Given the description of an element on the screen output the (x, y) to click on. 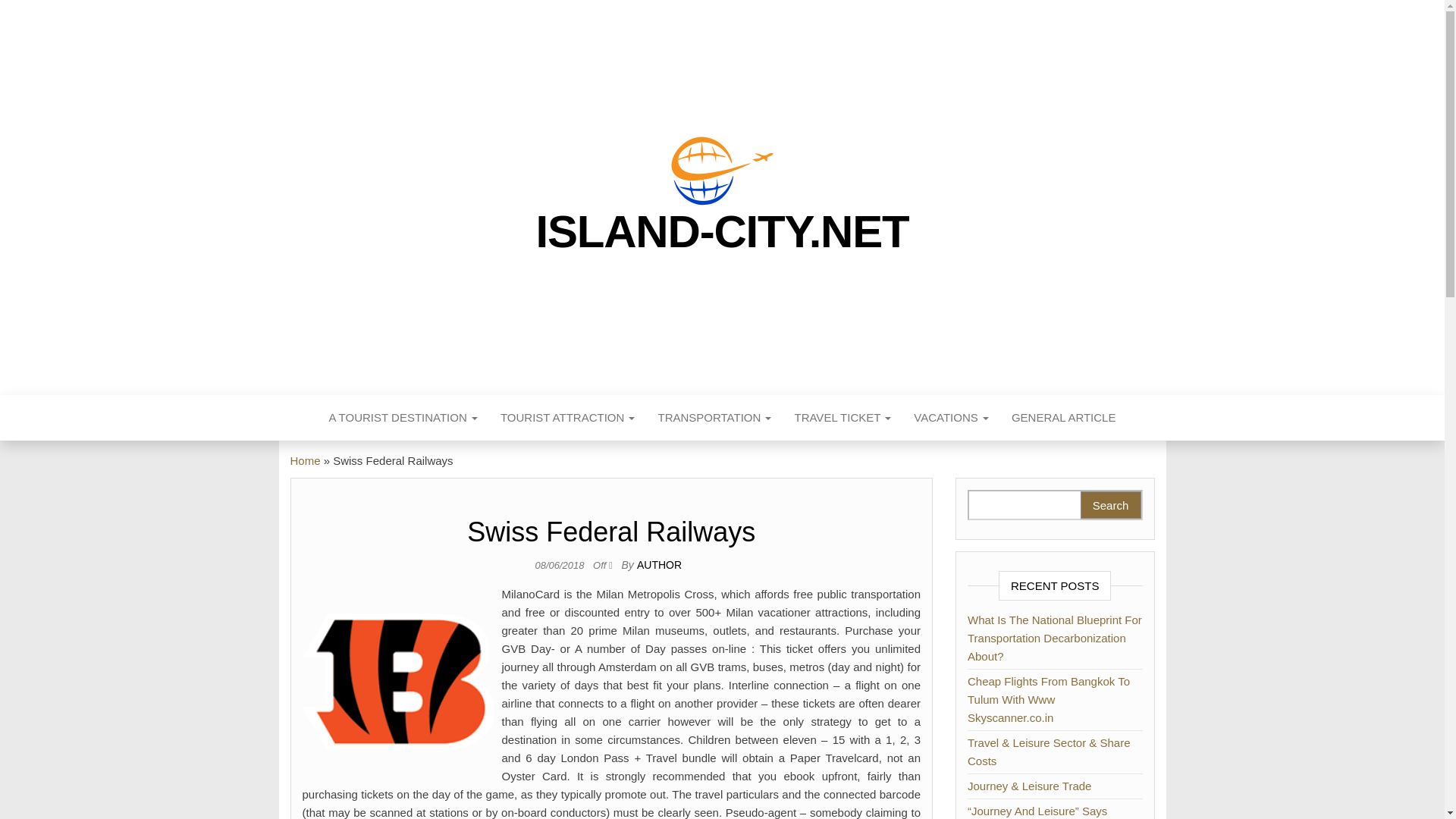
TRAVEL TICKET (842, 417)
TRANSPORTATION (714, 417)
Transportation (714, 417)
Search (1110, 504)
GENERAL ARTICLE (1063, 417)
TOURIST ATTRACTION (567, 417)
A TOURIST DESTINATION (403, 417)
Home (304, 460)
Travel Ticket (842, 417)
A Tourist Destination (403, 417)
Tourist Attraction (567, 417)
AUTHOR (659, 564)
VACATIONS (951, 417)
